Given the description of an element on the screen output the (x, y) to click on. 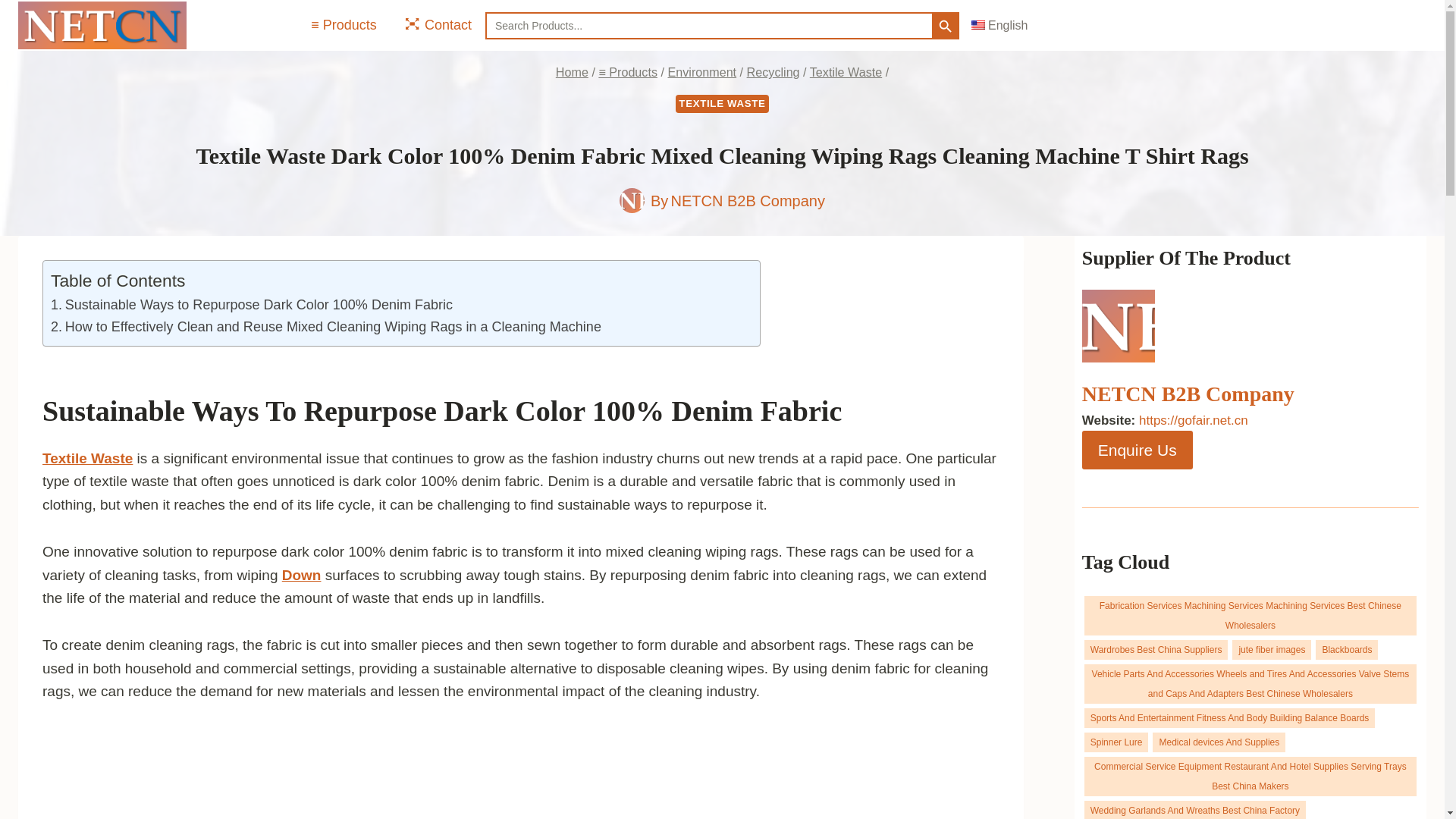
Search Button (945, 25)
Fabric (801, 410)
Environment (701, 71)
Home (572, 71)
Down (301, 575)
Denim (715, 410)
TEXTILE WASTE (721, 104)
Textile Waste (845, 71)
Textile Waste (87, 458)
